Given the description of an element on the screen output the (x, y) to click on. 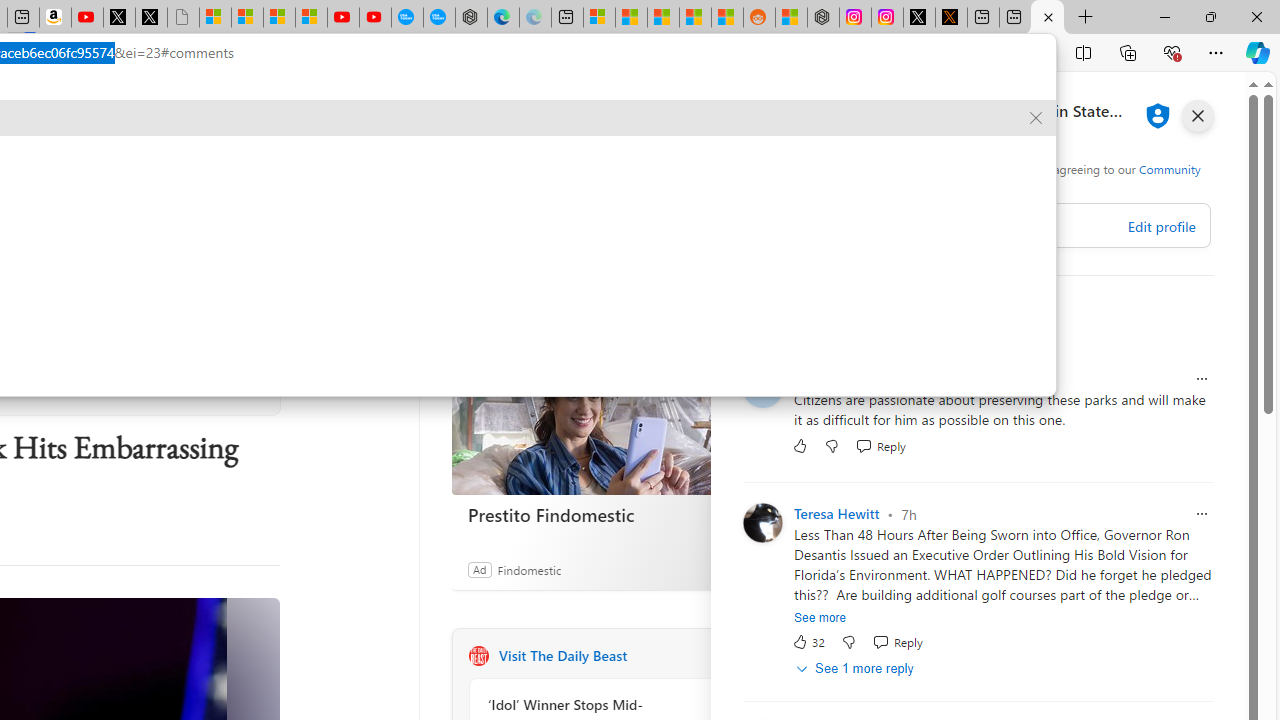
WNBA (37, 162)
NCAA WBK (515, 162)
Profile Picture (762, 522)
Dislike (848, 641)
Reply Reply Comment (897, 641)
Terms of Service (846, 184)
Sort comments by (817, 315)
Untitled (182, 17)
Nordace - Nordace has arrived Hong Kong (471, 17)
Shanghai, China Weather trends | Microsoft Weather (727, 17)
Nordace - Summer Adventures 2024 (822, 17)
Teresa Hewitt (836, 513)
